Given the description of an element on the screen output the (x, y) to click on. 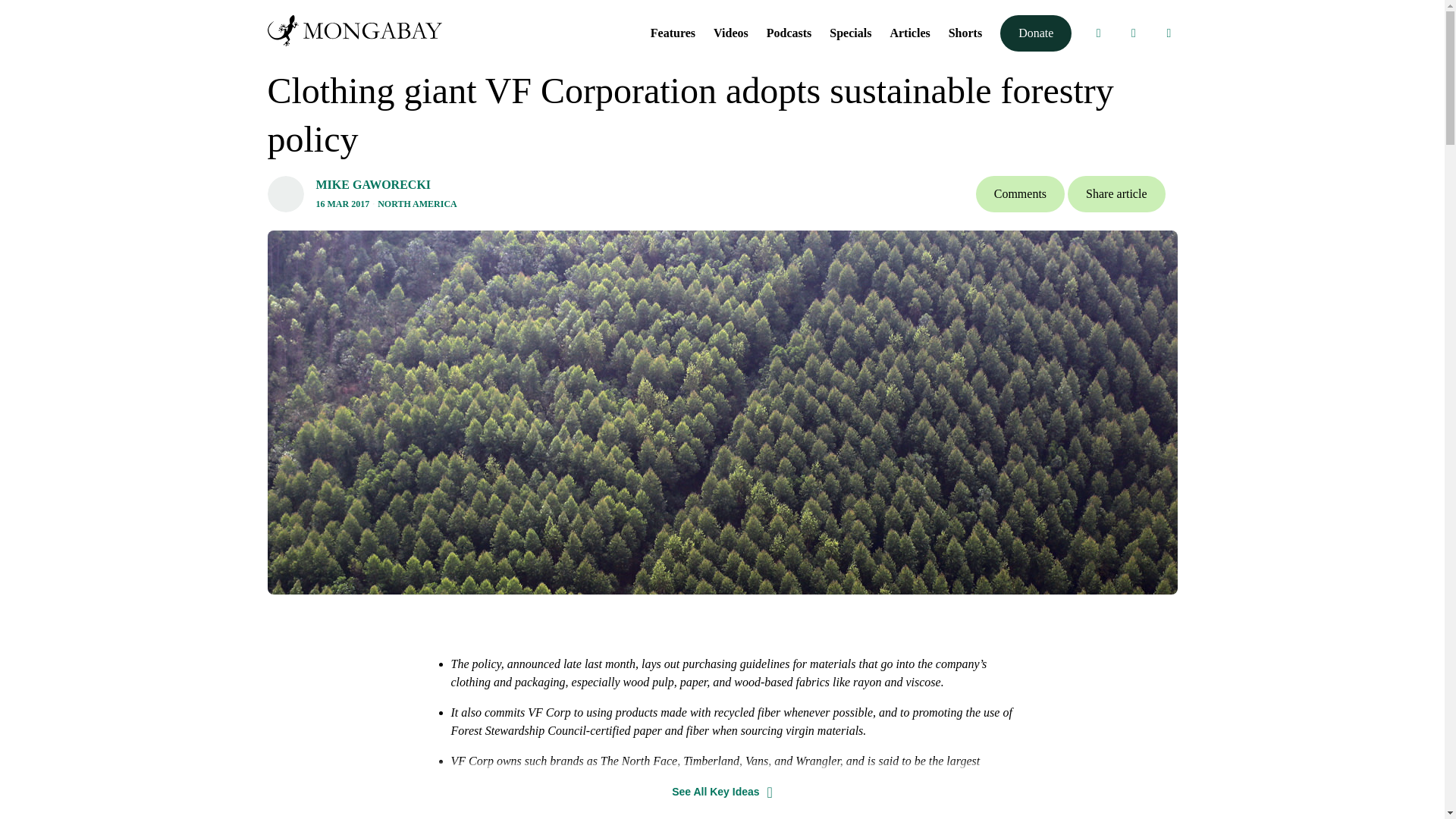
Donate (1035, 33)
Videos (730, 32)
Features (672, 32)
Shorts (965, 32)
Podcasts (789, 32)
Specials (849, 32)
Articles (909, 32)
